Given the description of an element on the screen output the (x, y) to click on. 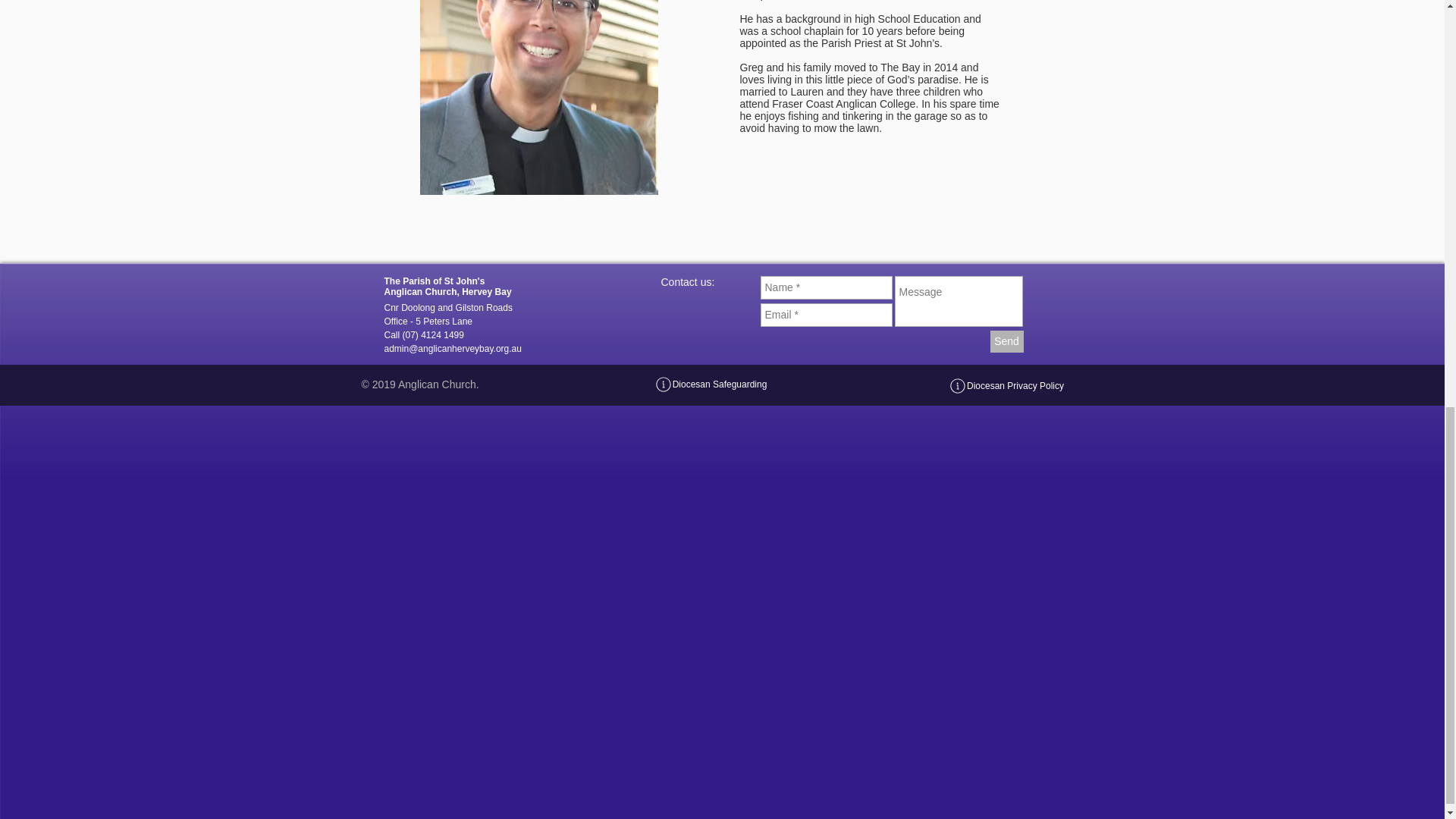
Diocesan Safeguarding (710, 384)
Send (1006, 341)
Diocesan Privacy Policy (1006, 386)
